Given the description of an element on the screen output the (x, y) to click on. 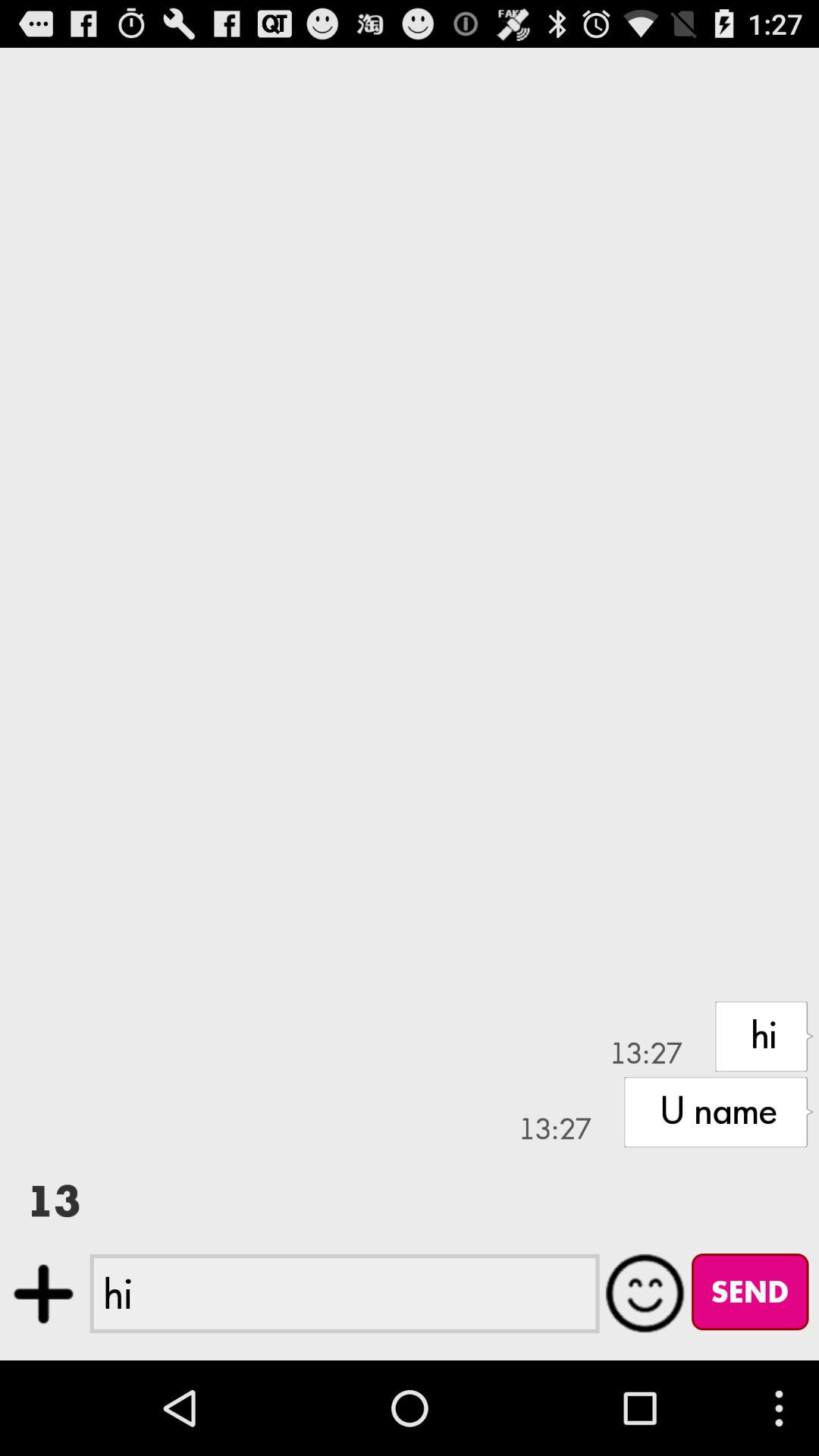
attach content (43, 1293)
